Given the description of an element on the screen output the (x, y) to click on. 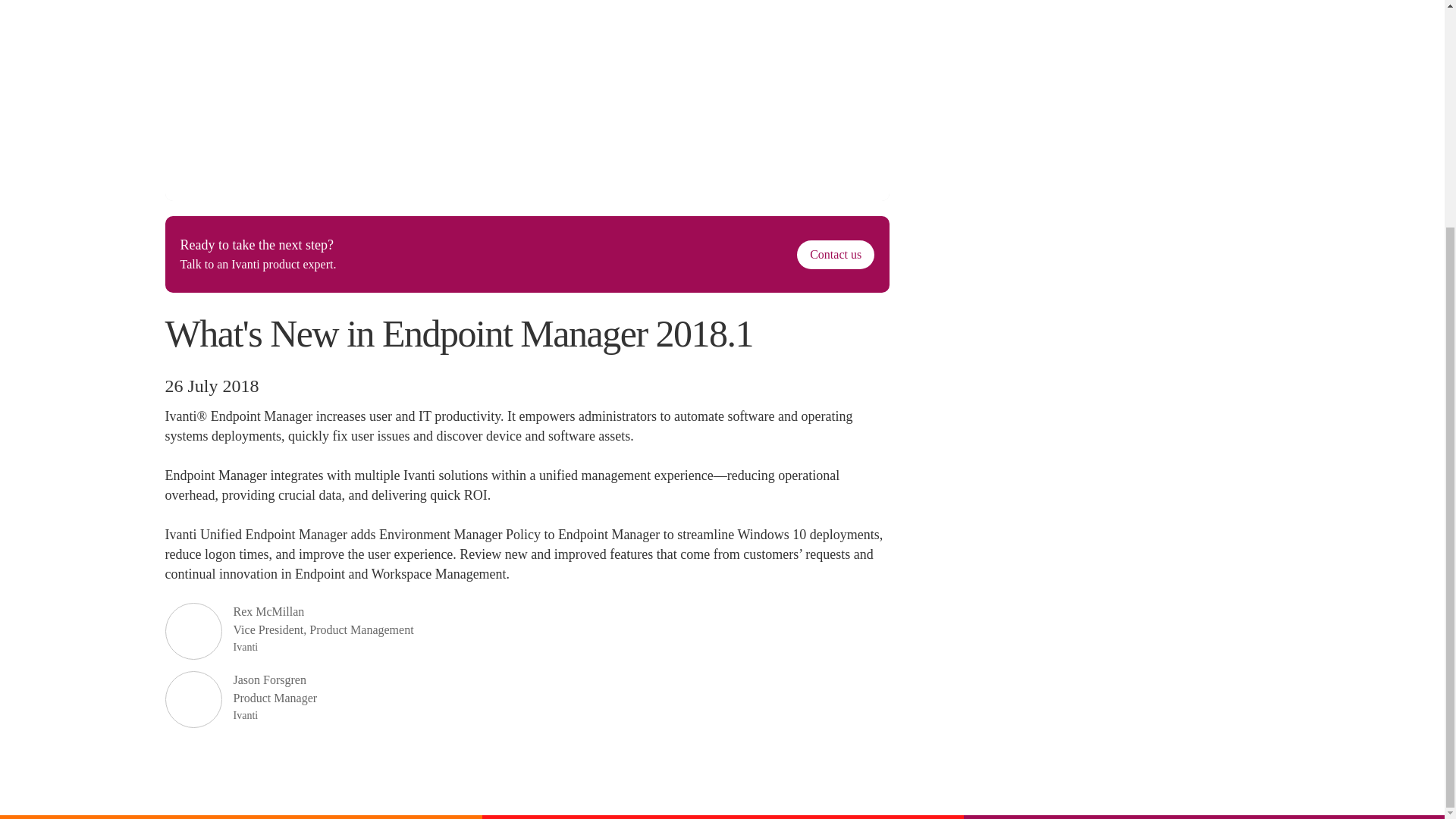
Contact us (835, 254)
